Given the description of an element on the screen output the (x, y) to click on. 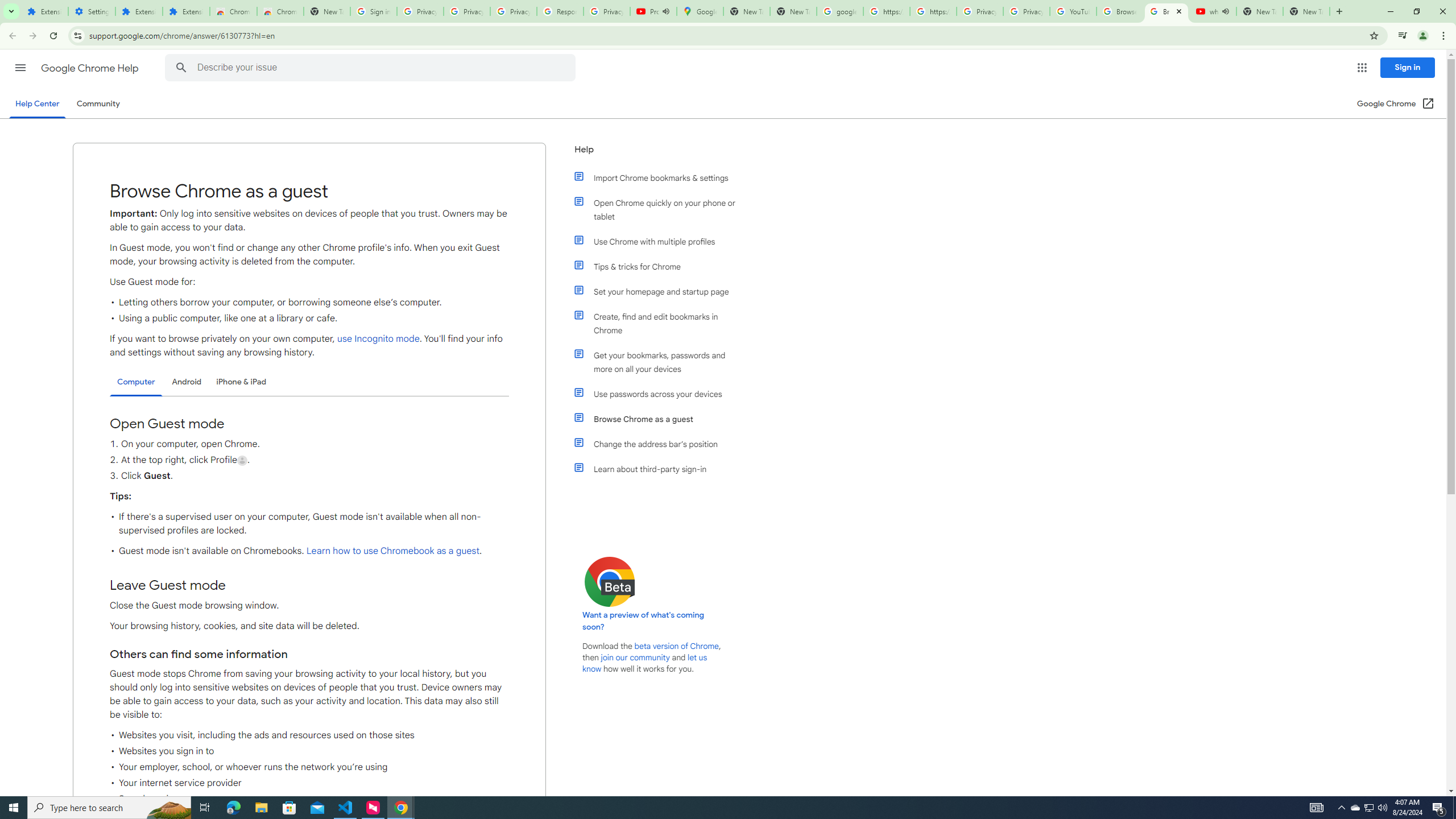
Extensions (186, 11)
Learn about third-party sign-in (661, 469)
join our community (634, 657)
beta version of Chrome (676, 646)
Browse Chrome as a guest - Computer - Google Chrome Help (1166, 11)
https://scholar.google.com/ (933, 11)
Google Maps (699, 11)
YouTube (1073, 11)
Use passwords across your devices (661, 394)
